Given the description of an element on the screen output the (x, y) to click on. 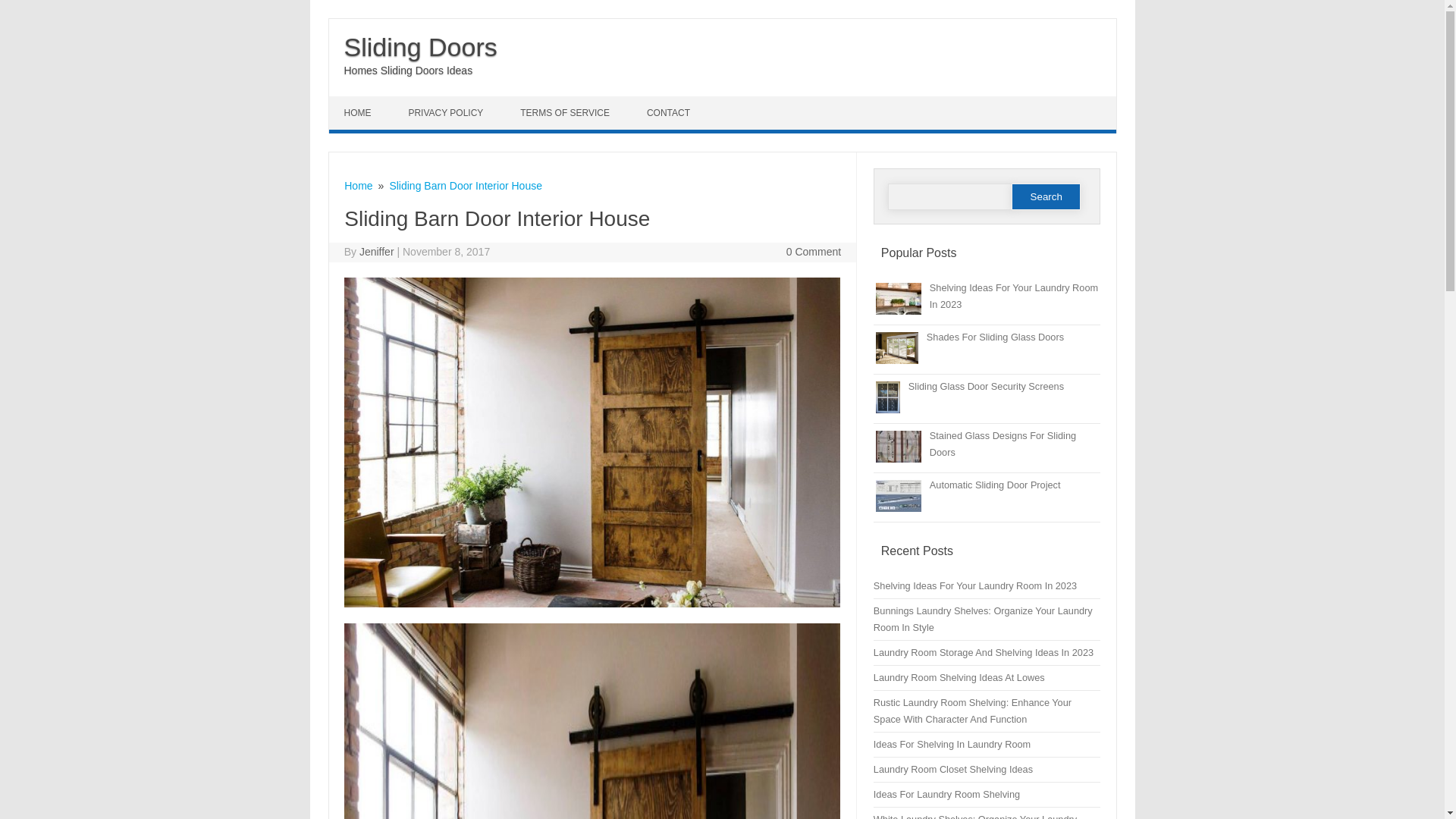
Stained Glass Designs For Sliding Doors (1002, 443)
Posts by Jeniffer (376, 251)
0 Comment (813, 251)
Search (1045, 196)
Skip to content (363, 101)
Sliding Barn Door Interior House (464, 185)
Home (357, 185)
Homes Sliding Doors Ideas (408, 70)
Shelving Ideas For Your Laundry Room In 2023 (975, 585)
Automatic Sliding Door Project (995, 484)
CONTACT (670, 112)
Shelving Ideas For Your Laundry Room In 2023 (1013, 295)
Search (1045, 196)
Laundry Room Shelving Ideas At Lowes (959, 677)
